Given the description of an element on the screen output the (x, y) to click on. 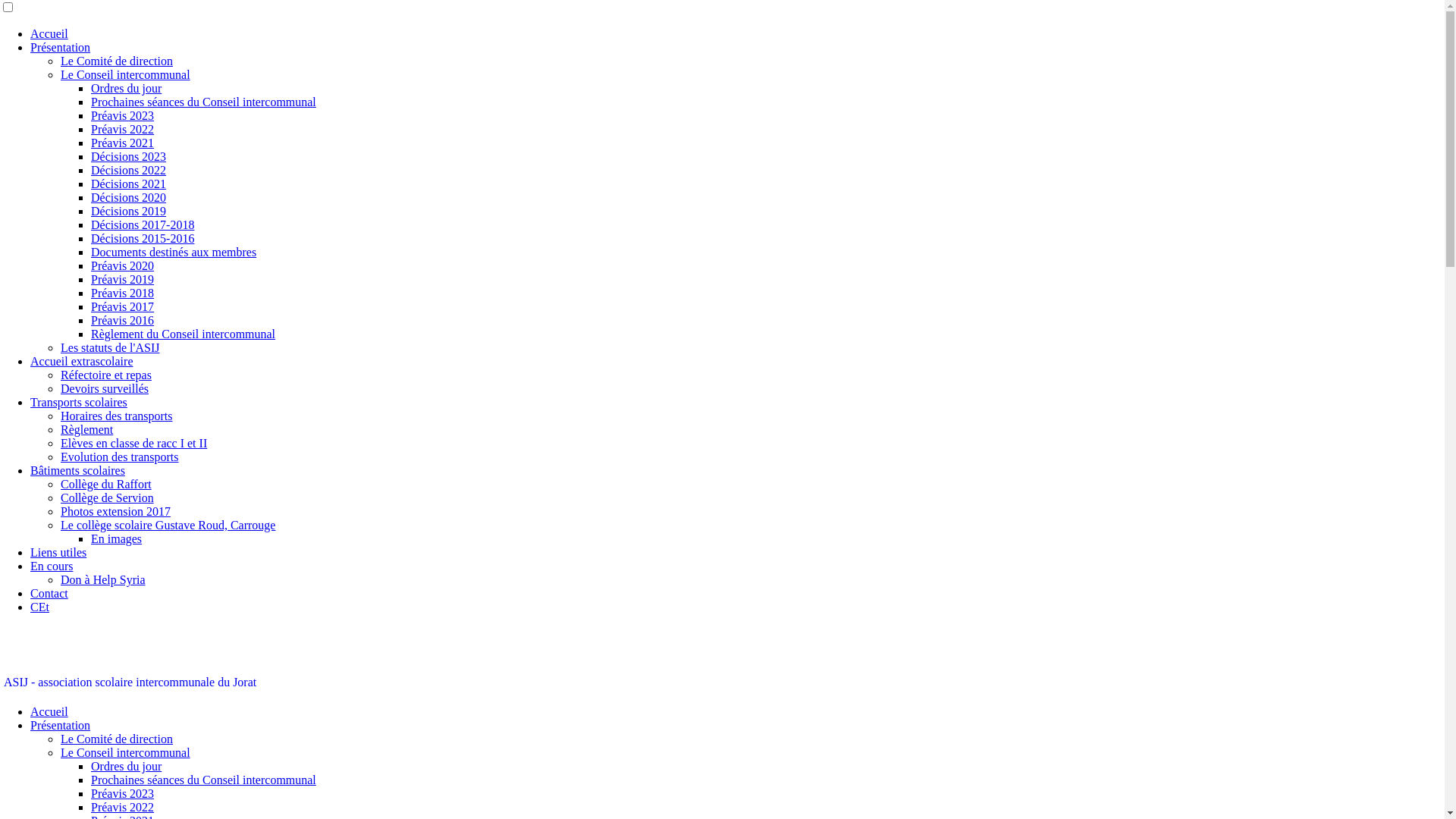
Le Conseil intercommunal Element type: text (125, 752)
Accueil Element type: text (49, 33)
Ordres du jour Element type: text (126, 87)
Transports scolaires Element type: text (78, 401)
En images Element type: text (116, 538)
Contact Element type: text (49, 592)
En cours Element type: text (51, 565)
Le Conseil intercommunal Element type: text (125, 74)
Liens utiles Element type: text (58, 552)
Accueil extrascolaire Element type: text (81, 360)
ASIJ - association scolaire intercommunale du Jorat Element type: text (129, 681)
CEt Element type: text (39, 606)
Evolution des transports Element type: text (119, 456)
Photos extension 2017 Element type: text (115, 511)
Accueil Element type: text (49, 711)
Ordres du jour Element type: text (126, 765)
Horaires des transports Element type: text (116, 415)
Les statuts de l'ASIJ Element type: text (109, 347)
